Given the description of an element on the screen output the (x, y) to click on. 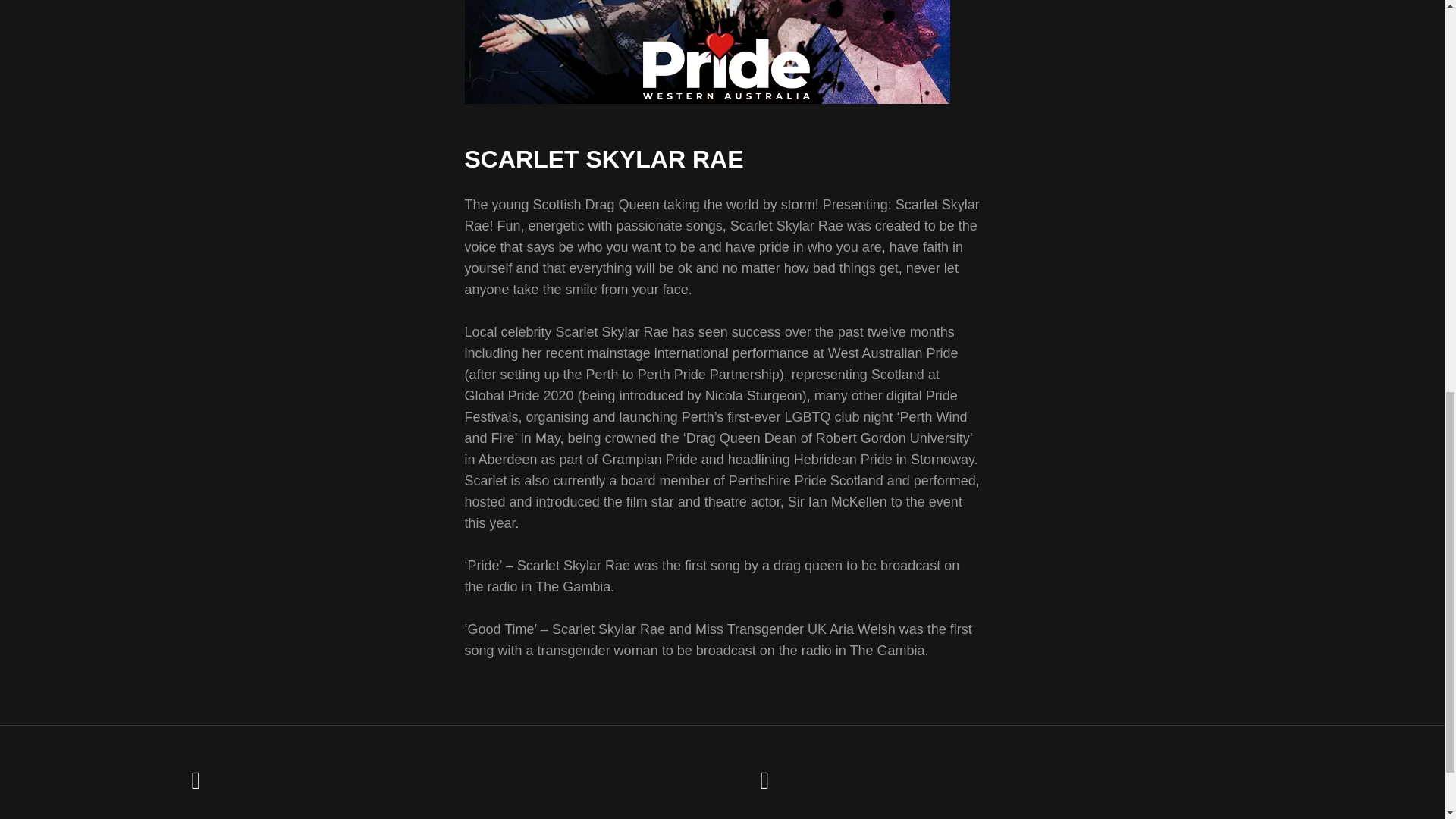
Visit Scarlet Skylar Rae on Instagram (764, 784)
Visit Scarlet Skylar Rae on Facebook (195, 784)
scarlet scbp (706, 52)
